Given the description of an element on the screen output the (x, y) to click on. 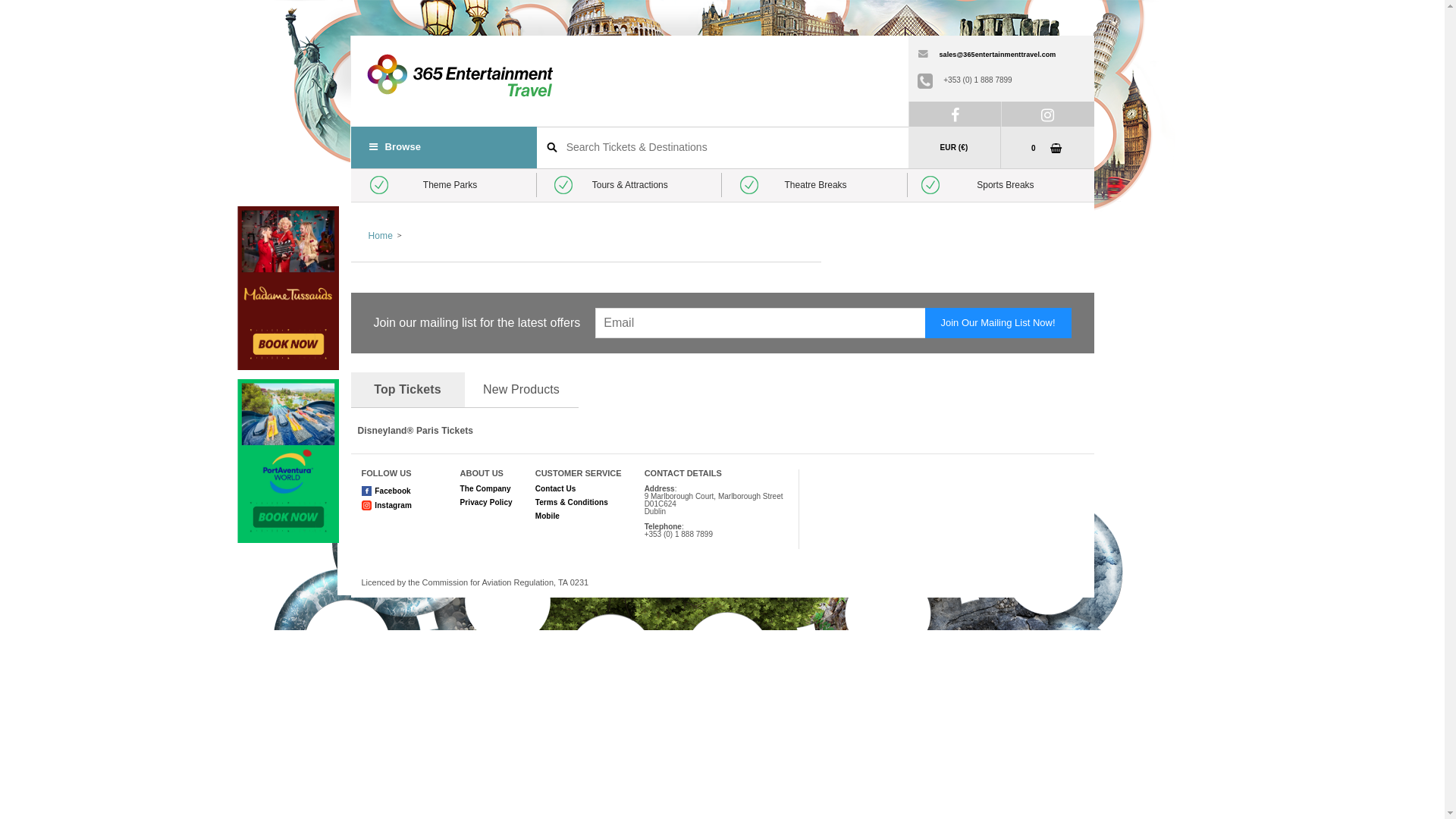
Contact Us Element type: text (555, 488)
Top Tickets Element type: text (407, 389)
sales@365entertainmenttravel.com Element type: text (984, 54)
Terms & Conditions Element type: text (571, 502)
Facebook Element type: text (392, 490)
New Products Element type: text (520, 389)
Browse Element type: text (443, 147)
Mobile Element type: text (547, 515)
The Company Element type: text (484, 488)
365Tickets - Instagram Element type: hover (1047, 113)
365Tickets - FaceBook Element type: hover (954, 113)
Instagram Element type: text (392, 505)
Home Element type: text (384, 235)
Join Our Mailing List Now! Element type: text (998, 322)
Privacy Policy Element type: text (485, 502)
0 Element type: text (1042, 147)
